Given the description of an element on the screen output the (x, y) to click on. 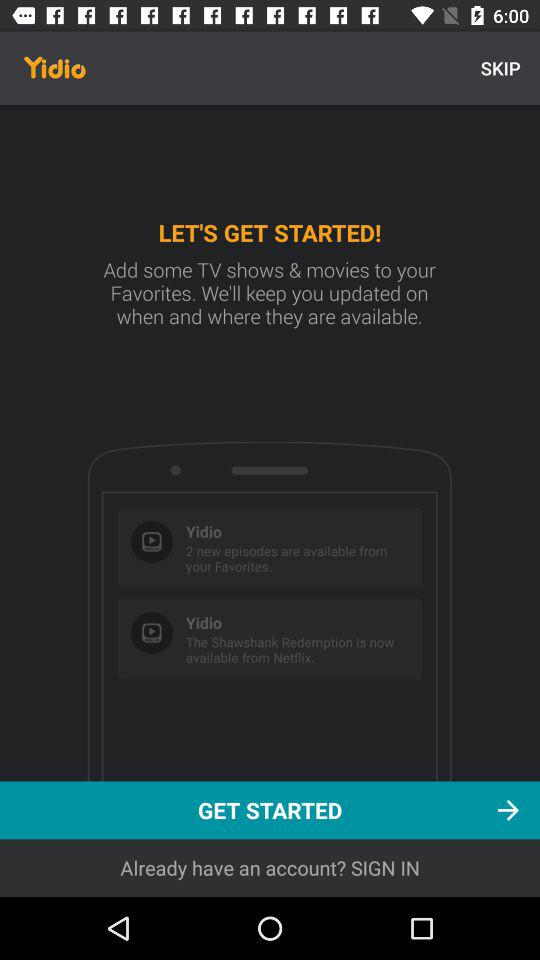
press skip icon (500, 67)
